Given the description of an element on the screen output the (x, y) to click on. 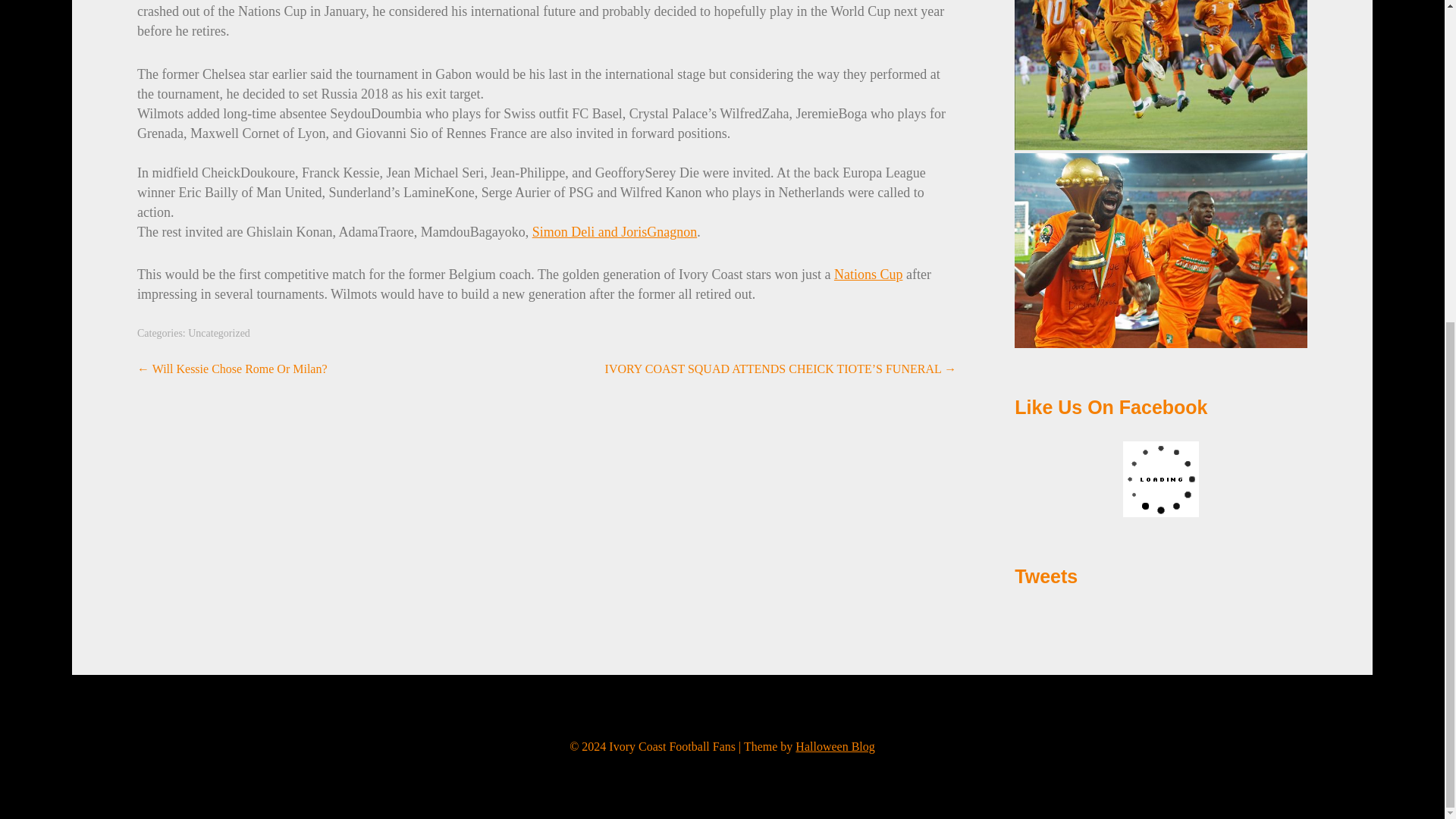
Nations Cup (868, 273)
Simon Deli and JorisGnagnon (614, 231)
Halloween Blog (834, 746)
